Given the description of an element on the screen output the (x, y) to click on. 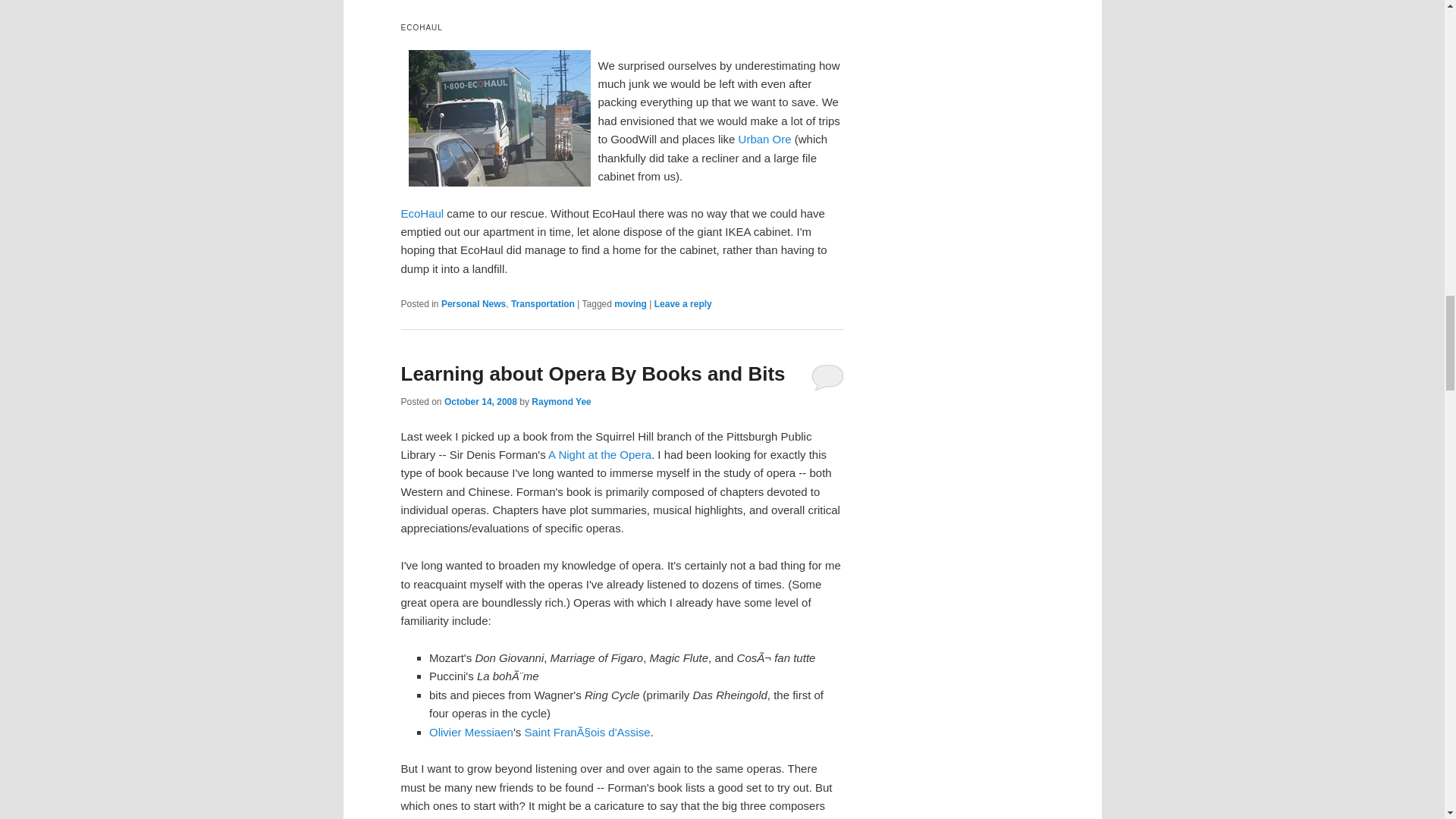
moving (630, 303)
A Night at the Opera (599, 454)
Personal News (473, 303)
October 14, 2008 (480, 401)
Transportation (543, 303)
Urban Ore (765, 138)
5:55 pm (480, 401)
Raymond Yee (561, 401)
EcoHaul (422, 213)
Learning about Opera By Books and Bits (592, 373)
View all posts by Raymond Yee (561, 401)
Leave a reply (682, 303)
